Given the description of an element on the screen output the (x, y) to click on. 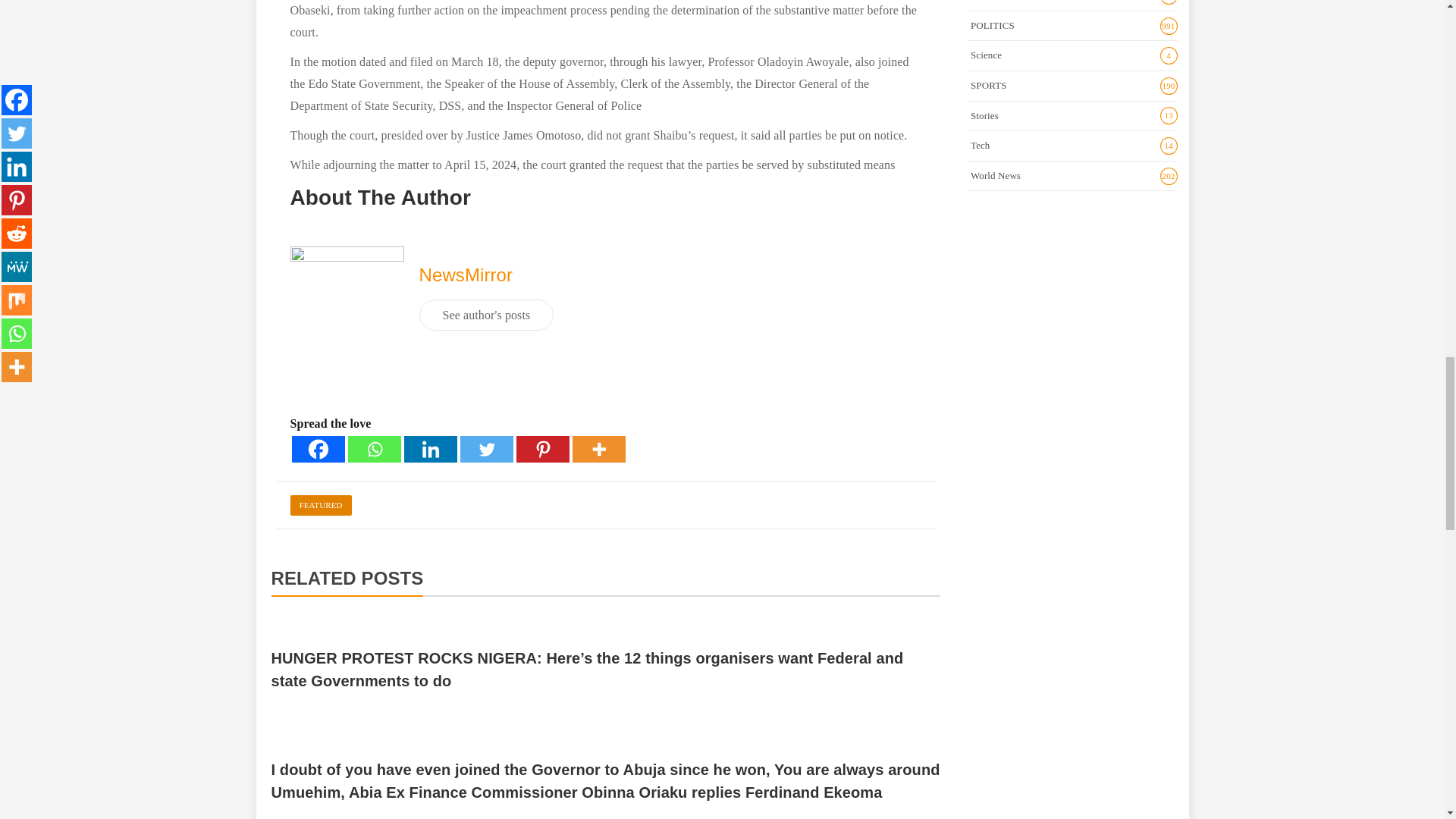
Facebook (317, 448)
Whatsapp (373, 448)
Linkedin (430, 448)
